Given the description of an element on the screen output the (x, y) to click on. 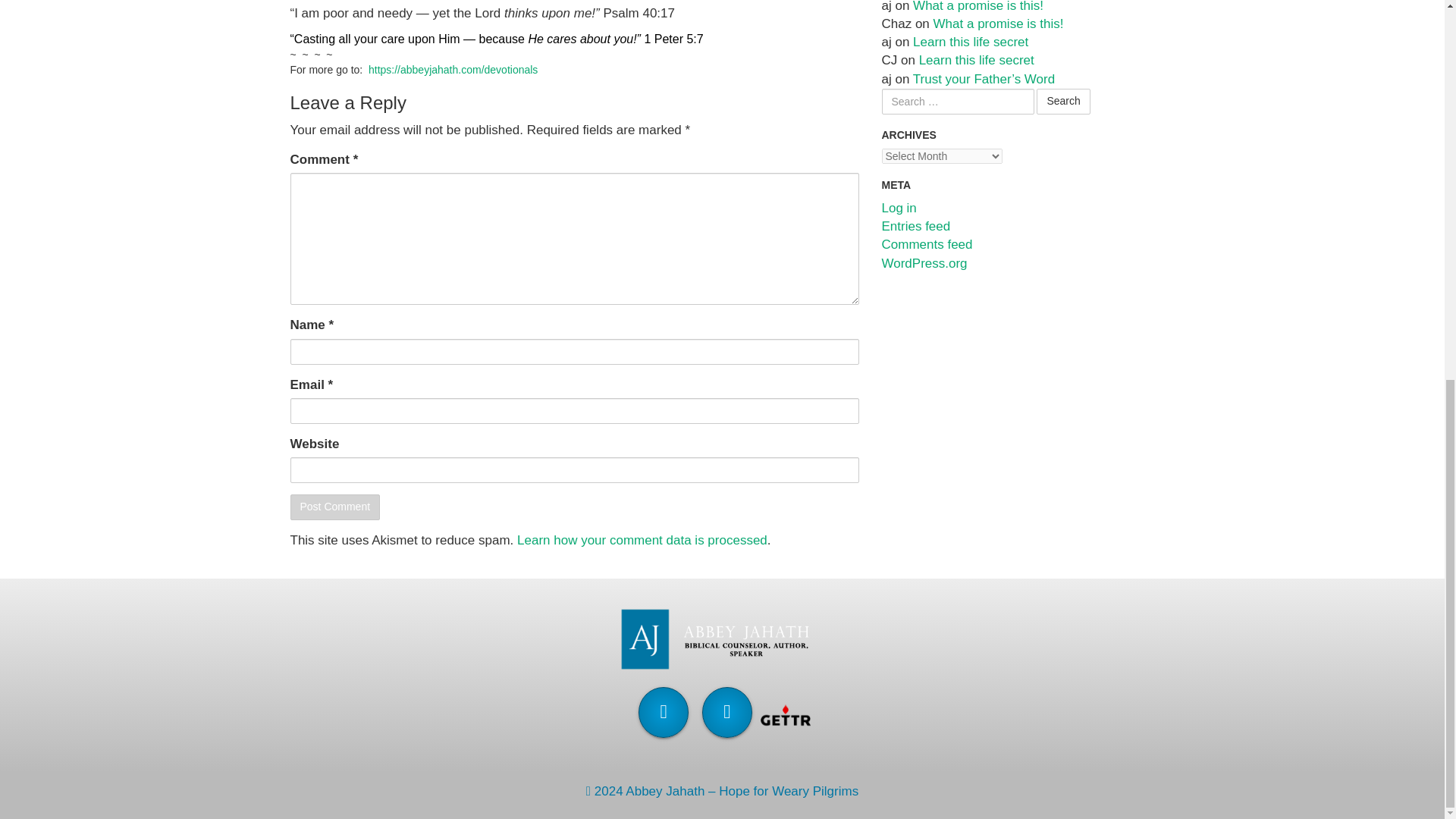
Post Comment (334, 507)
Search (1062, 101)
What a promise is this! (977, 6)
Post Comment (334, 507)
Search (1062, 101)
Learn how your comment data is processed (641, 540)
